Given the description of an element on the screen output the (x, y) to click on. 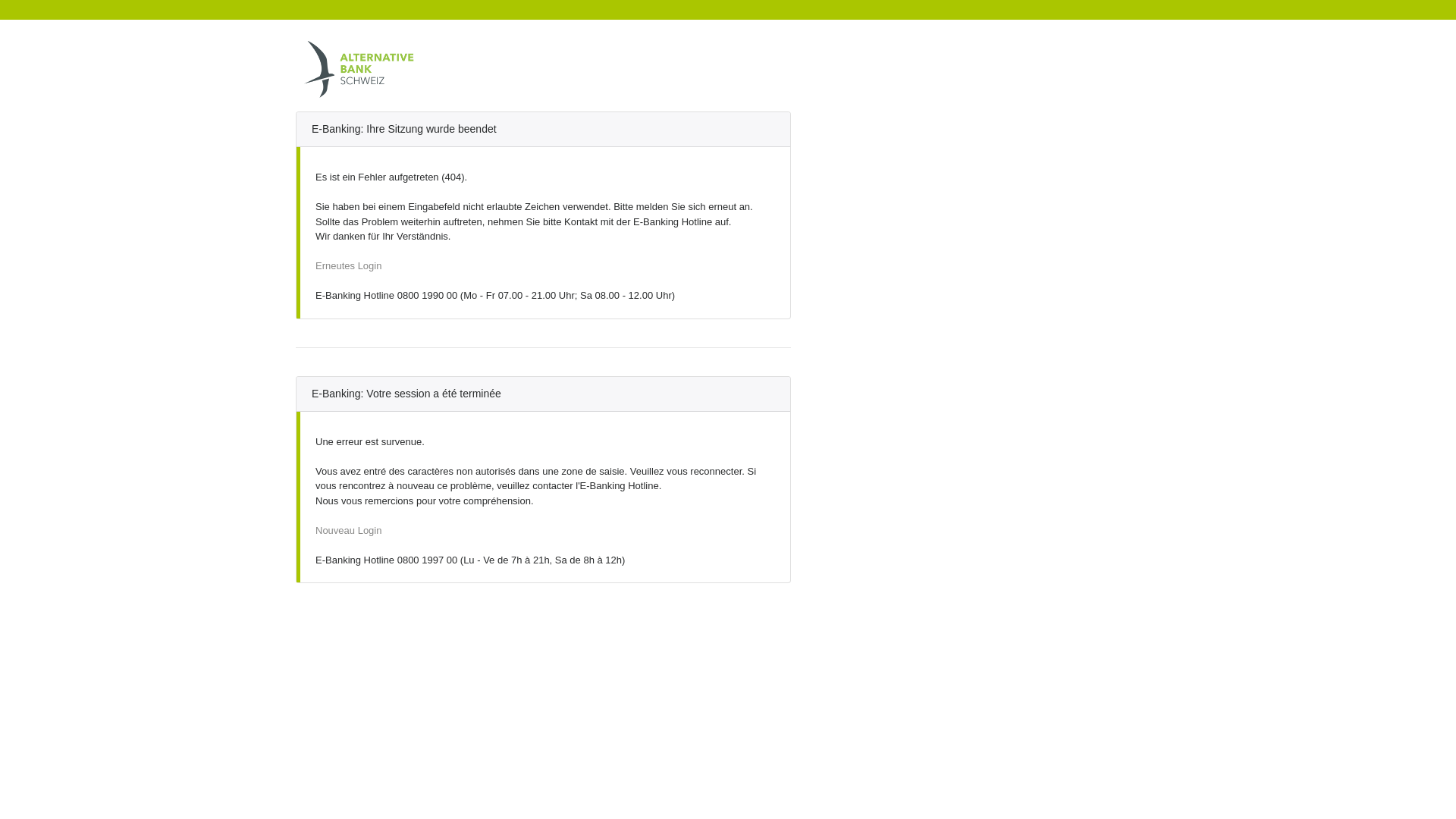
Nouveau Login Element type: text (348, 530)
Erneutes Login Element type: text (348, 265)
